Given the description of an element on the screen output the (x, y) to click on. 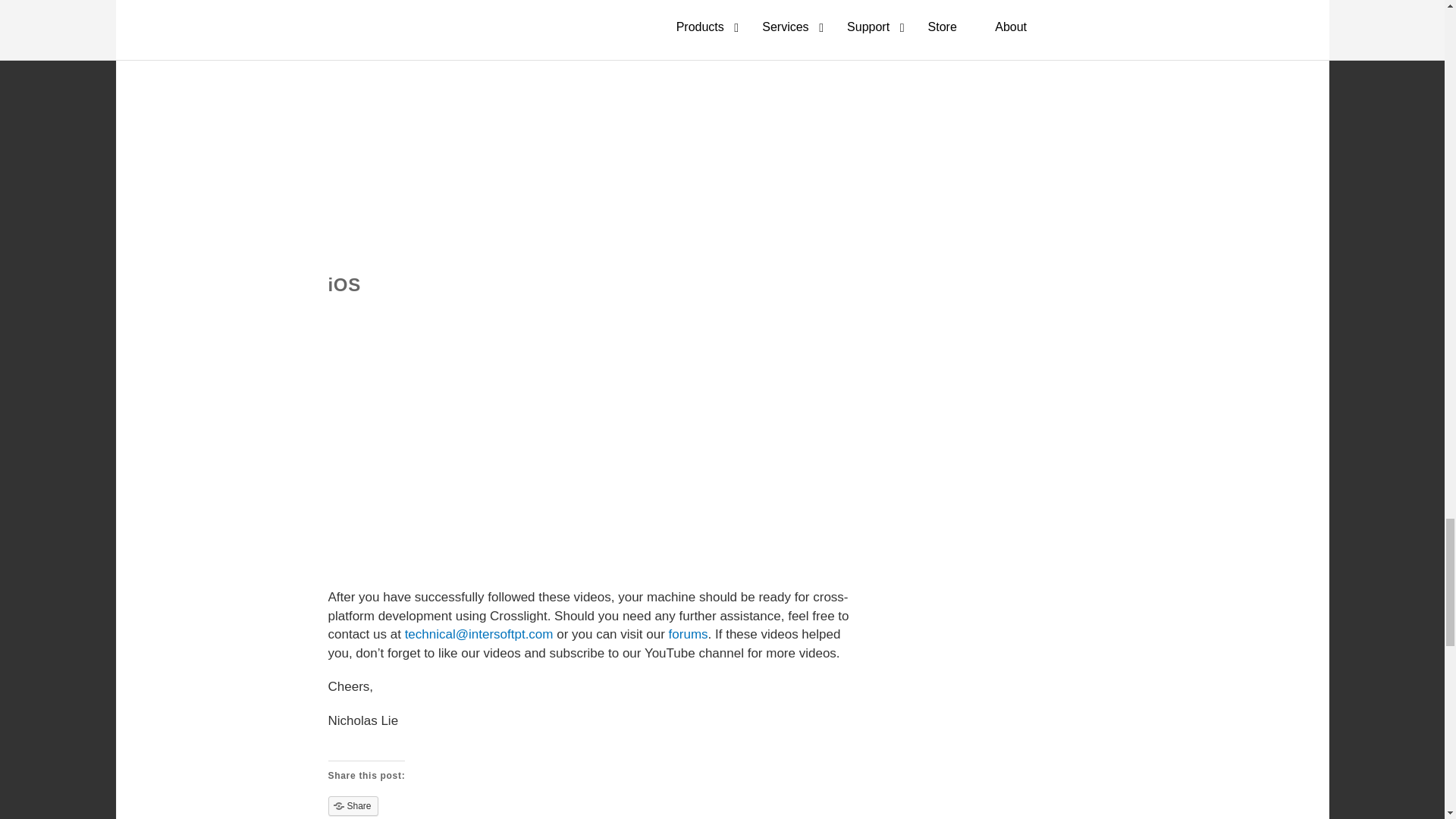
forums (687, 634)
Share (352, 805)
